Given the description of an element on the screen output the (x, y) to click on. 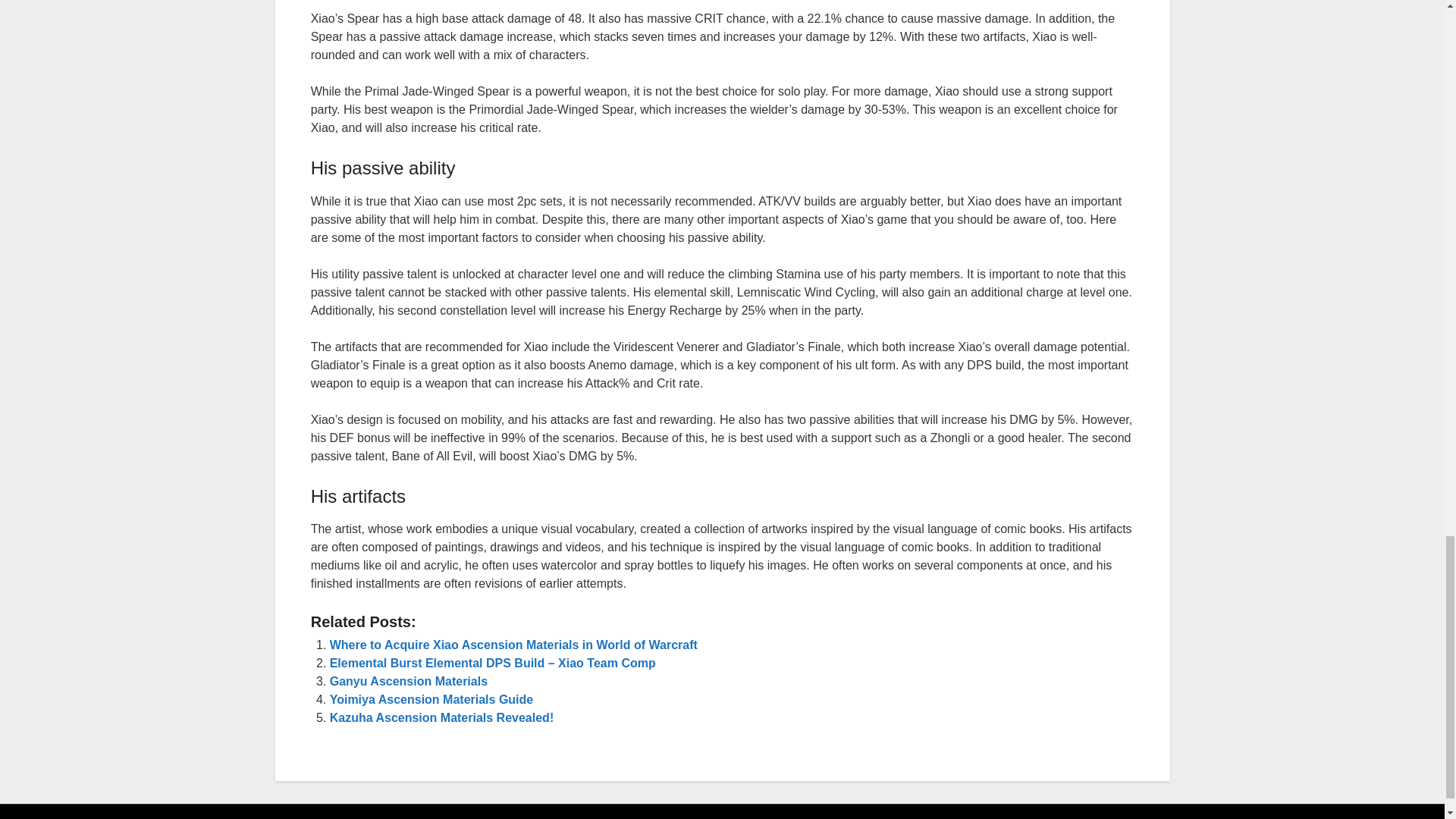
Yoimiya Ascension Materials Guide (432, 698)
Ganyu Ascension Materials (408, 680)
Kazuha Ascension Materials Revealed! (442, 717)
Yoimiya Ascension Materials Guide (432, 698)
Ganyu Ascension Materials (408, 680)
Kazuha Ascension Materials Revealed! (442, 717)
